Given the description of an element on the screen output the (x, y) to click on. 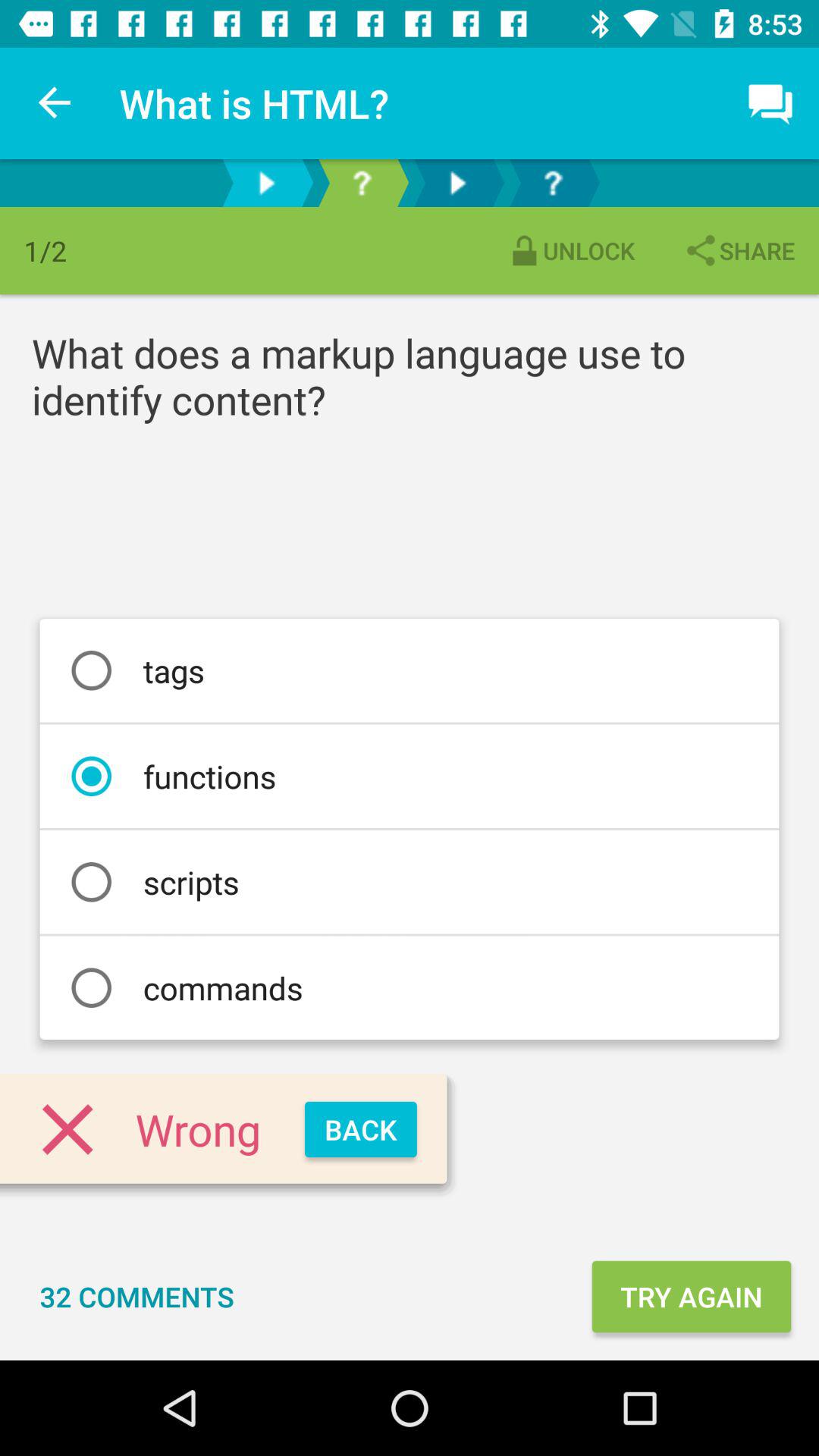
press the item to the right of unlock item (738, 250)
